Given the description of an element on the screen output the (x, y) to click on. 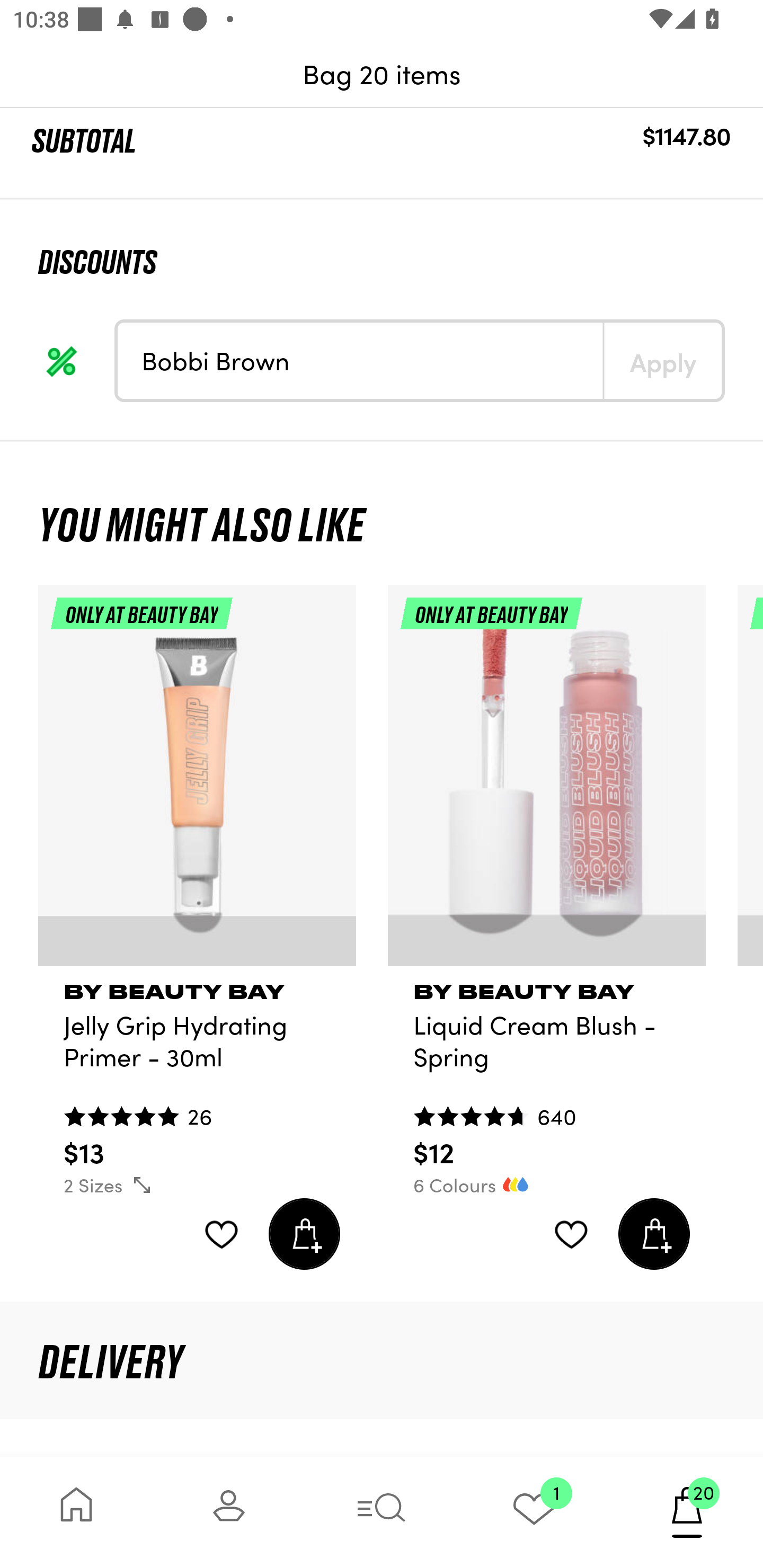
Bobbi Brown (360, 360)
Apply (661, 360)
ONLY AT BEAUTY BAY (197, 782)
ONLY AT BEAUTY BAY (546, 782)
1 (533, 1512)
20 (686, 1512)
